Given the description of an element on the screen output the (x, y) to click on. 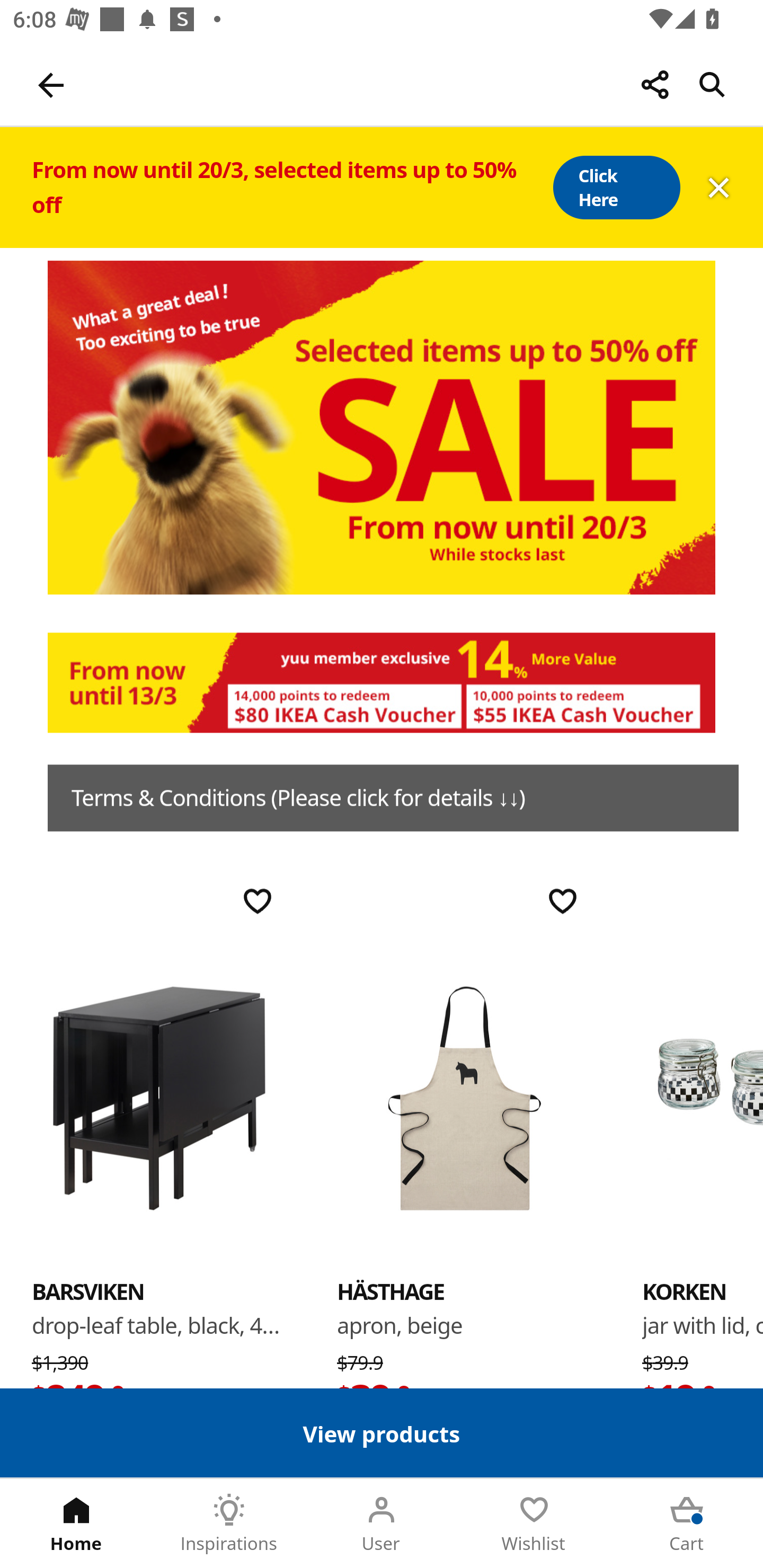
Click Here (615, 187)
Terms & Conditions (Please click for details ↓↓) (393, 798)
BARSVIKEN (159, 1096)
HÄSTHAGE (464, 1096)
KORKEN (702, 1096)
BARSVIKEN (88, 1290)
HÄSTHAGE (390, 1290)
KORKEN (684, 1290)
View products (381, 1432)
Home
Tab 1 of 5 (76, 1522)
Inspirations
Tab 2 of 5 (228, 1522)
User
Tab 3 of 5 (381, 1522)
Wishlist
Tab 4 of 5 (533, 1522)
Cart
Tab 5 of 5 (686, 1522)
